Given the description of an element on the screen output the (x, y) to click on. 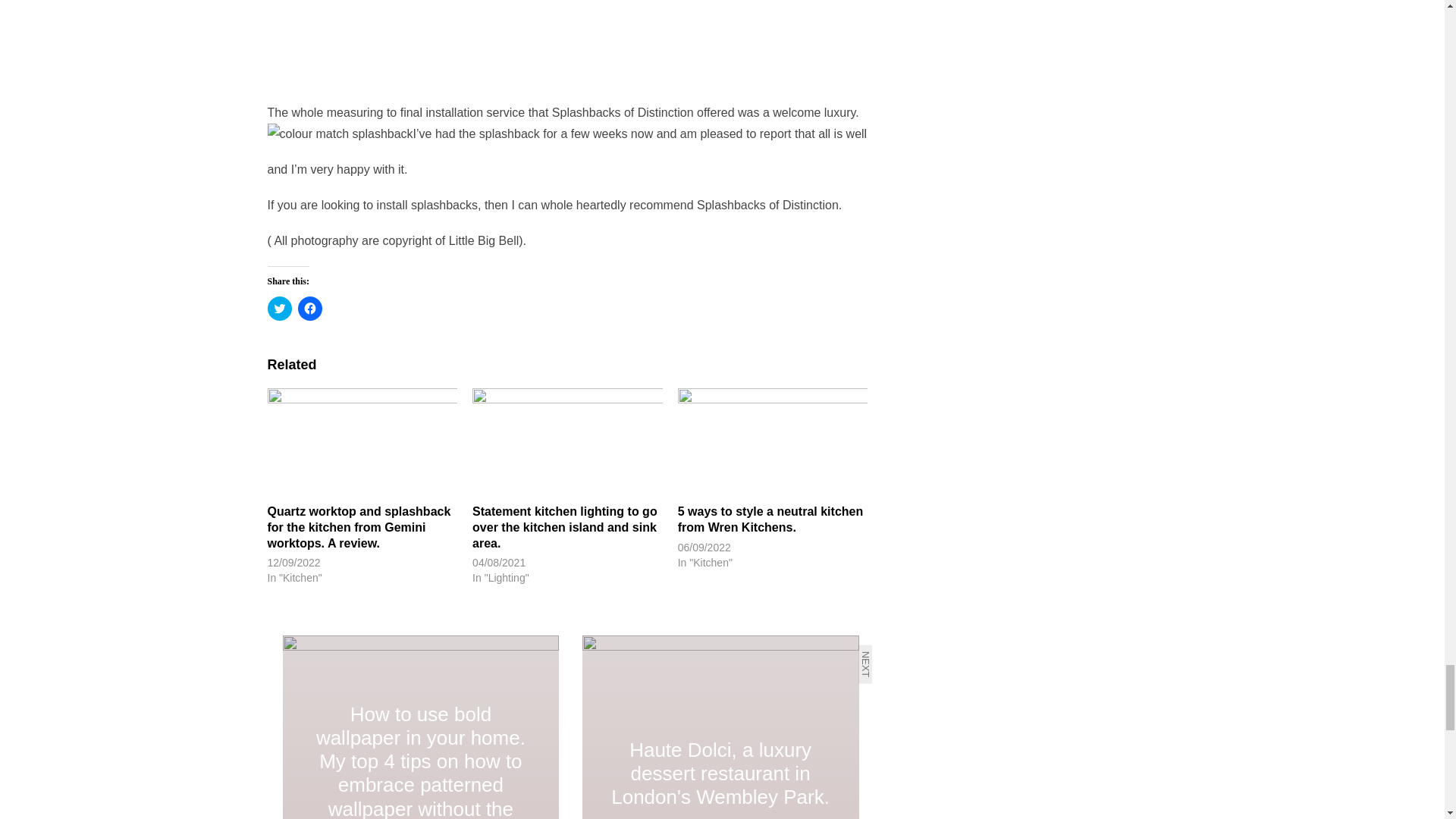
5 ways to style a neutral kitchen from Wren Kitchens. (772, 442)
5 ways to style a neutral kitchen from Wren Kitchens. (770, 519)
Click to share on Twitter (278, 308)
Click to share on Facebook (309, 308)
